Given the description of an element on the screen output the (x, y) to click on. 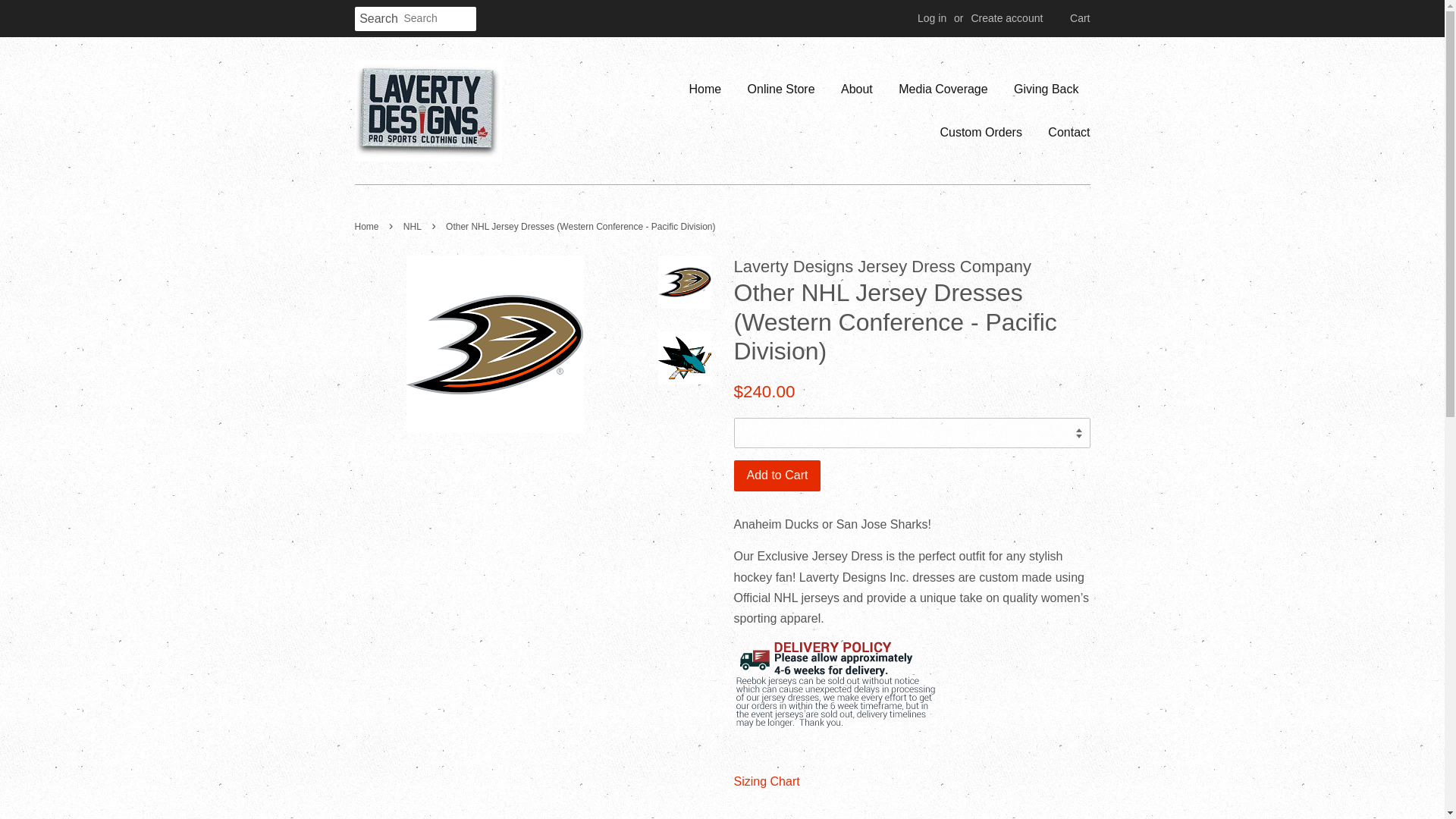
Add to Cart (777, 475)
Home (368, 226)
Back to the frontpage (368, 226)
Cart (1079, 18)
Log in (931, 18)
Online Store (781, 88)
Contact (1062, 131)
Search (379, 18)
Custom Orders (980, 131)
Create account (1006, 18)
Media Coverage (942, 88)
Home (710, 88)
Giving Back (1046, 88)
Sizing Chart (766, 780)
NHL (414, 226)
